Given the description of an element on the screen output the (x, y) to click on. 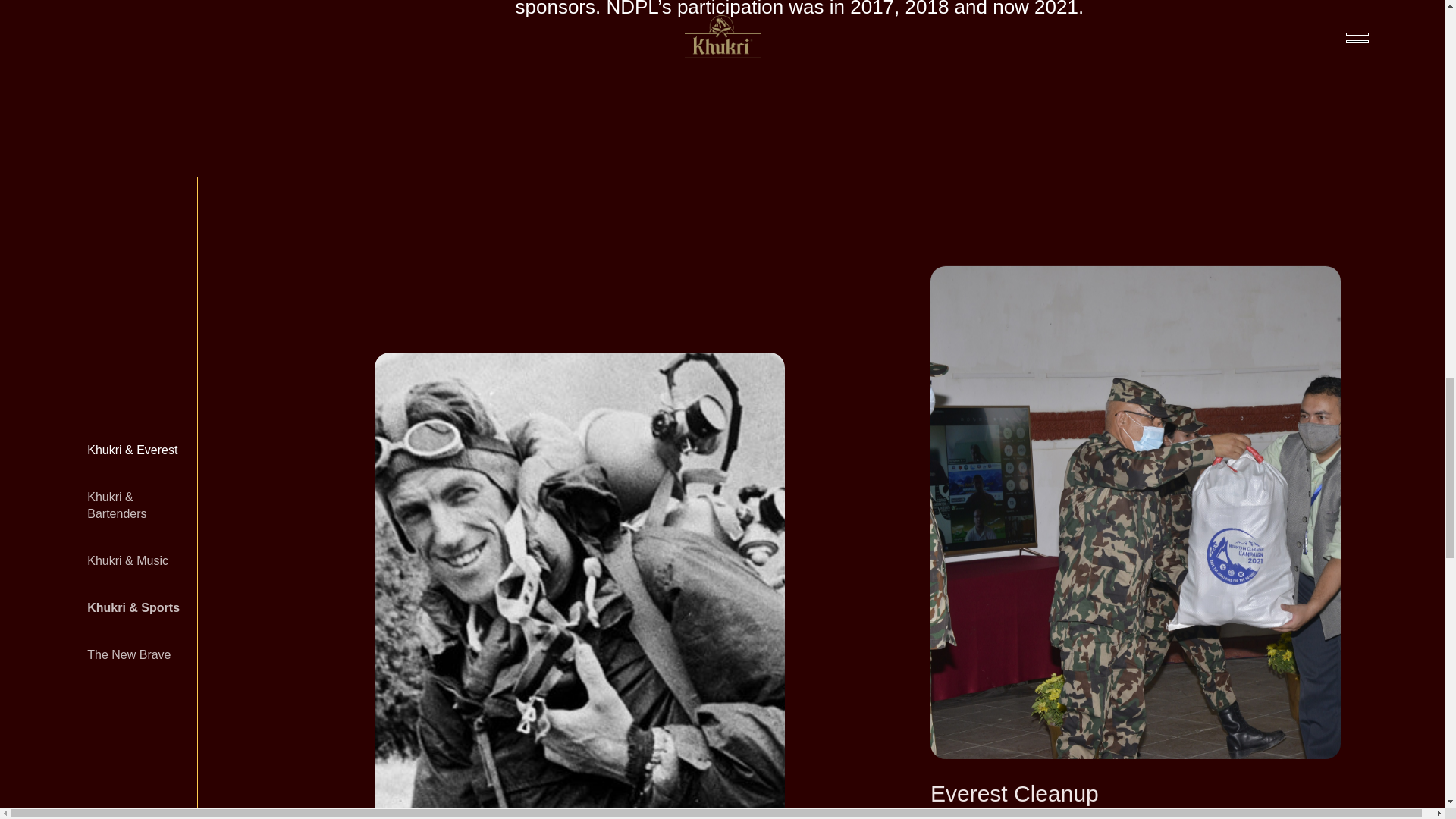
The New Brave (133, 654)
